Given the description of an element on the screen output the (x, y) to click on. 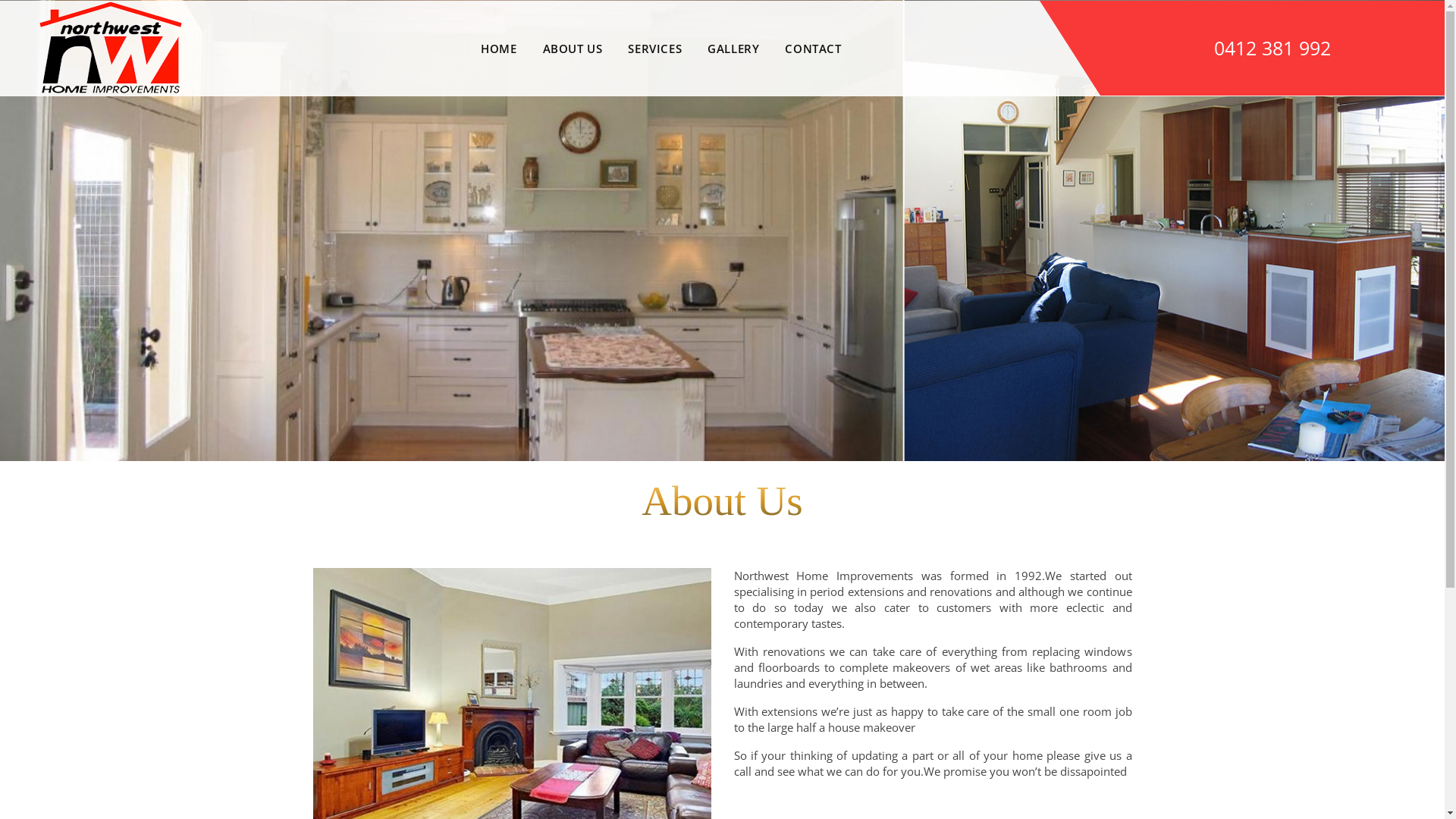
ABOUT US Element type: text (572, 47)
HOME Element type: text (498, 47)
SERVICES Element type: text (654, 47)
0412 381 992 Element type: text (1272, 47)
CONTACT Element type: text (812, 47)
GALLERY Element type: text (733, 47)
